Given the description of an element on the screen output the (x, y) to click on. 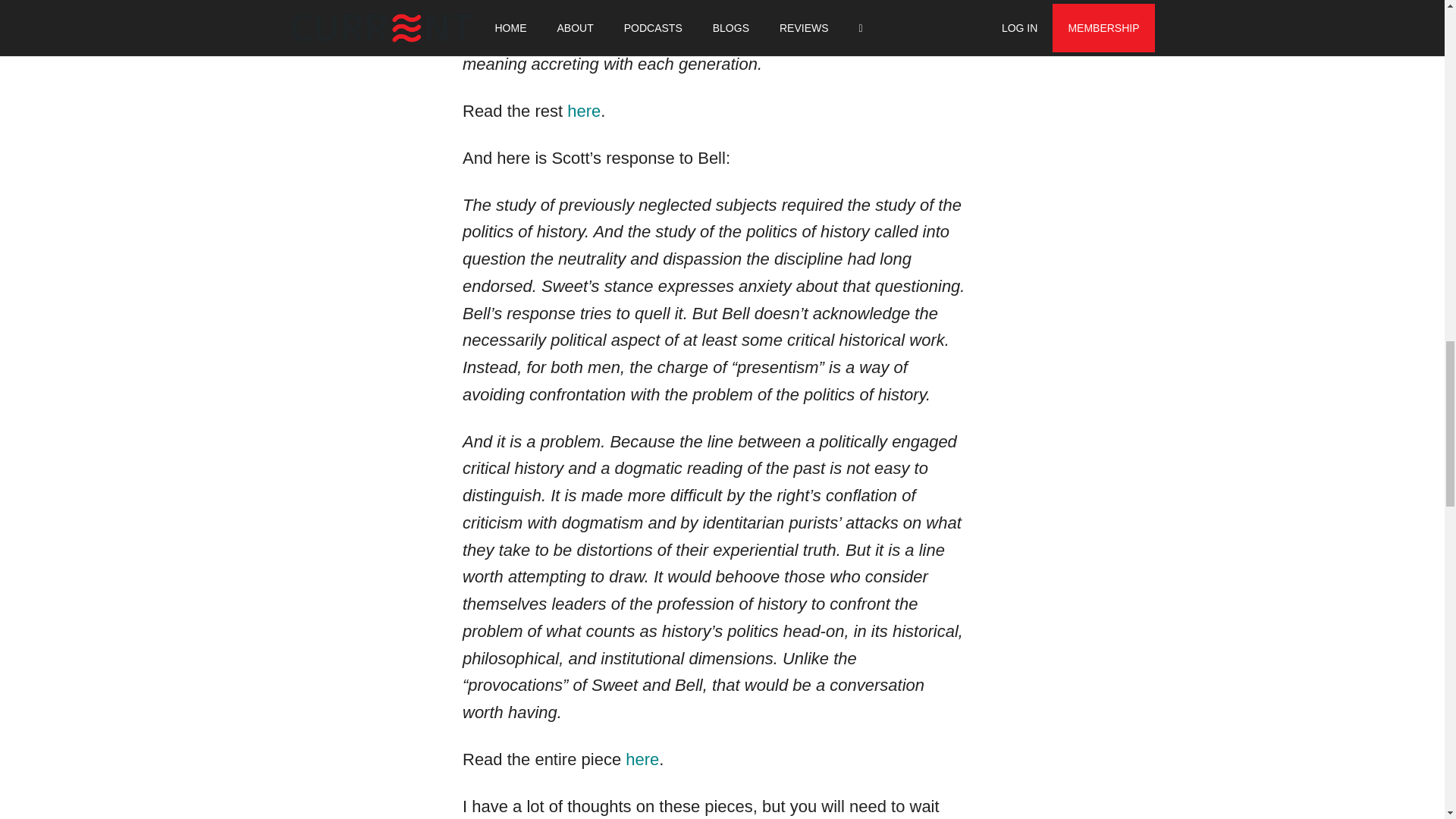
here (642, 759)
here (583, 110)
